Given the description of an element on the screen output the (x, y) to click on. 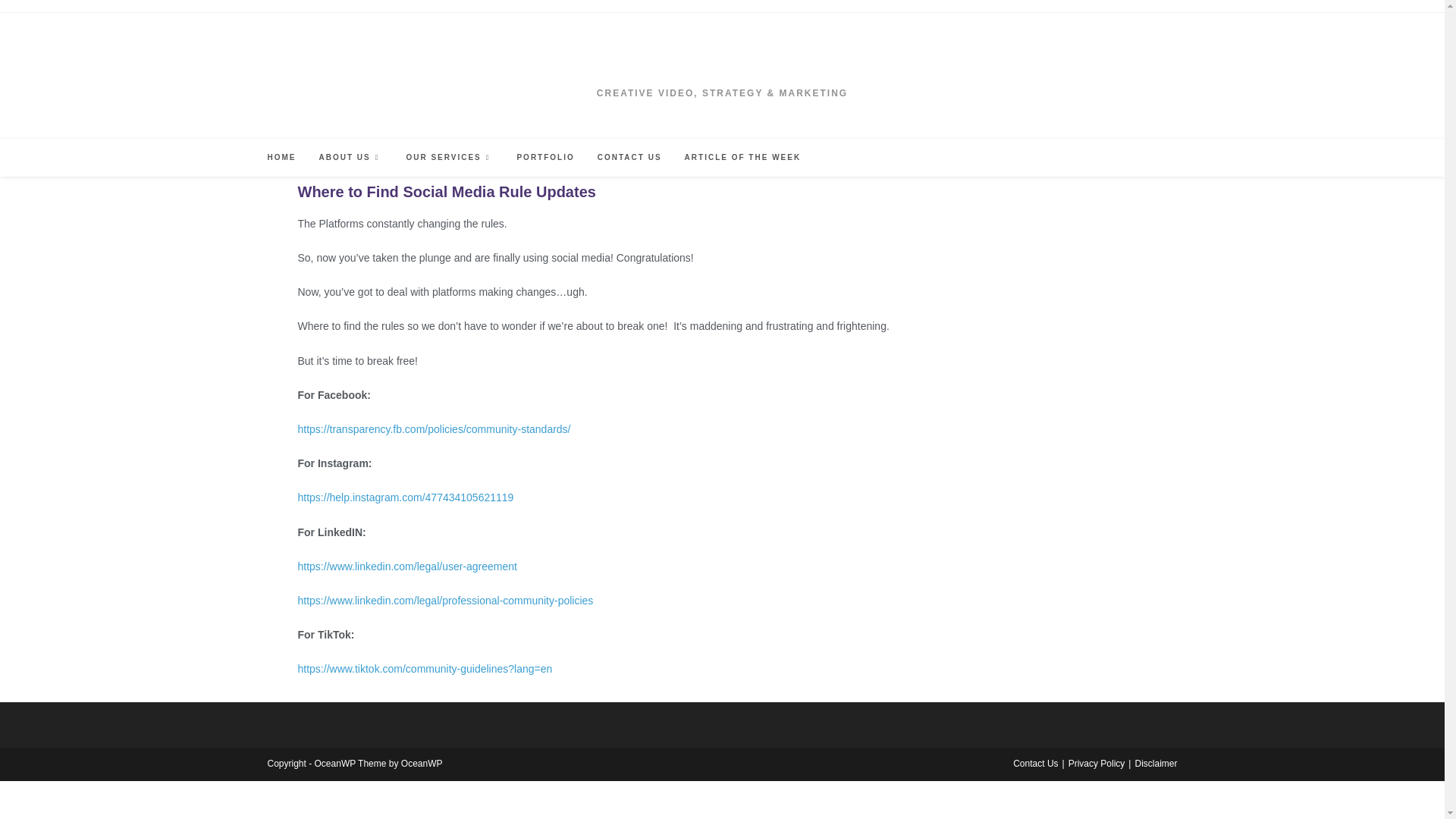
CONTACT US (629, 157)
PORTFOLIO (545, 157)
ARTICLE OF THE WEEK (742, 157)
Disclaimer (1155, 763)
Privacy Policy (1096, 763)
Contact Us (1035, 763)
OUR SERVICES (449, 157)
ABOUT US (350, 157)
HOME (281, 157)
